Given the description of an element on the screen output the (x, y) to click on. 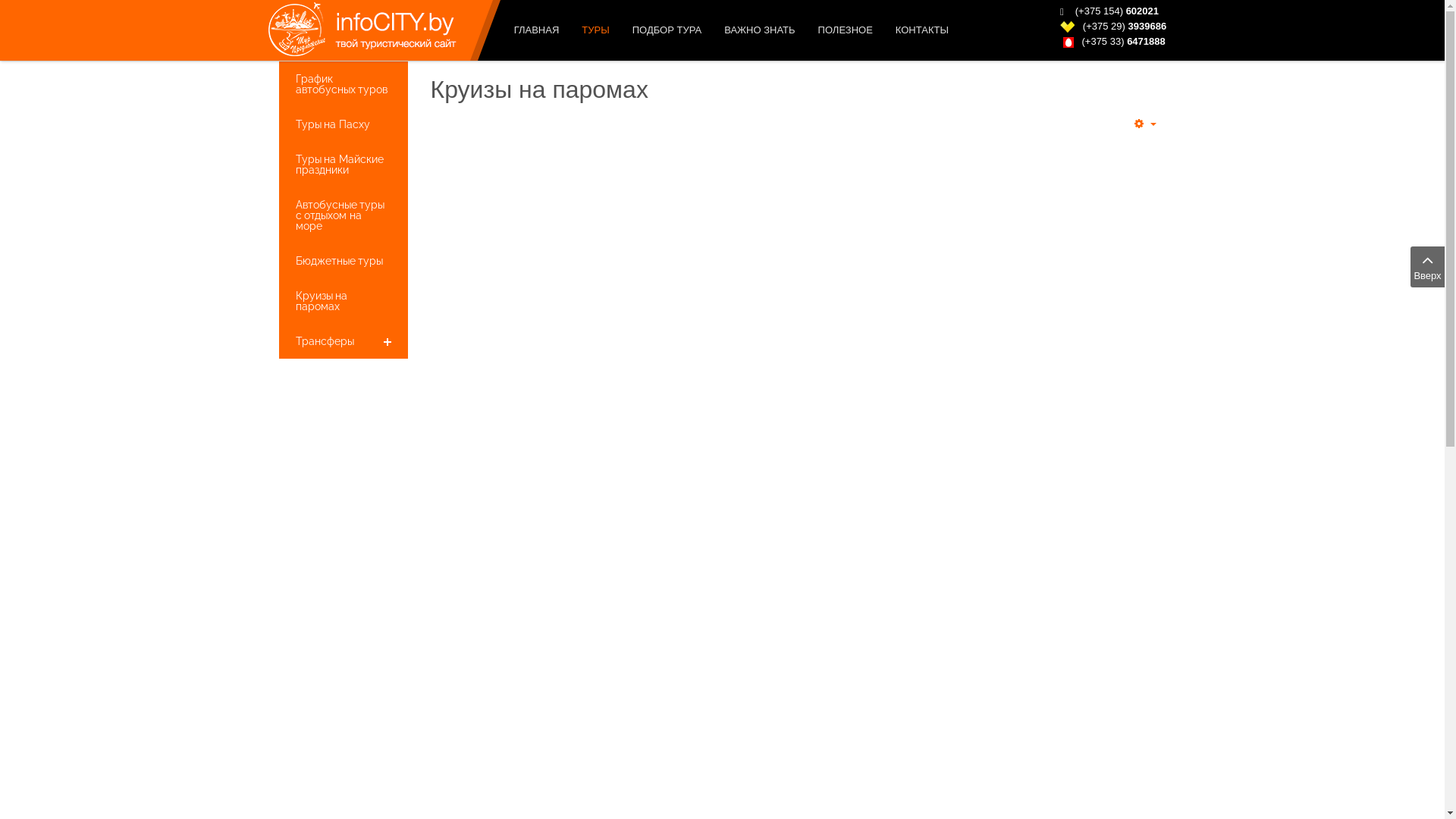
infoCity.by   Element type: hover (353, 30)
